Given the description of an element on the screen output the (x, y) to click on. 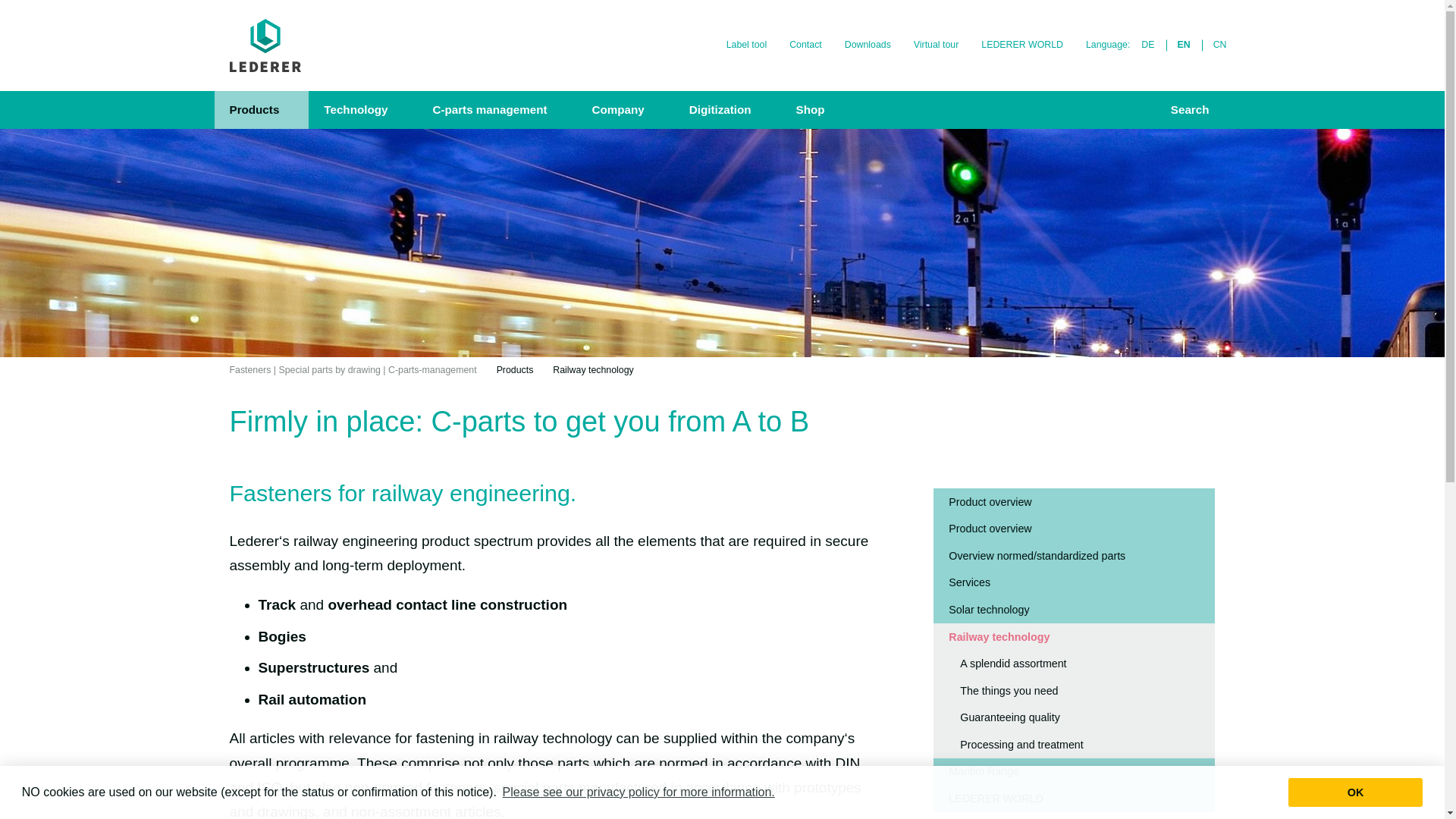
Contact (804, 44)
Virtual tour (935, 44)
Downloads (867, 44)
Contact (804, 44)
LEDERER WORLD (1021, 44)
Label tool (746, 44)
Homepage (264, 45)
Please see our privacy policy for more information. (638, 792)
OK (1355, 792)
EN (1184, 44)
CN (1220, 44)
Downloads (867, 44)
Label tool (746, 44)
LEDERER WORLD (1021, 44)
DE (1147, 44)
